Given the description of an element on the screen output the (x, y) to click on. 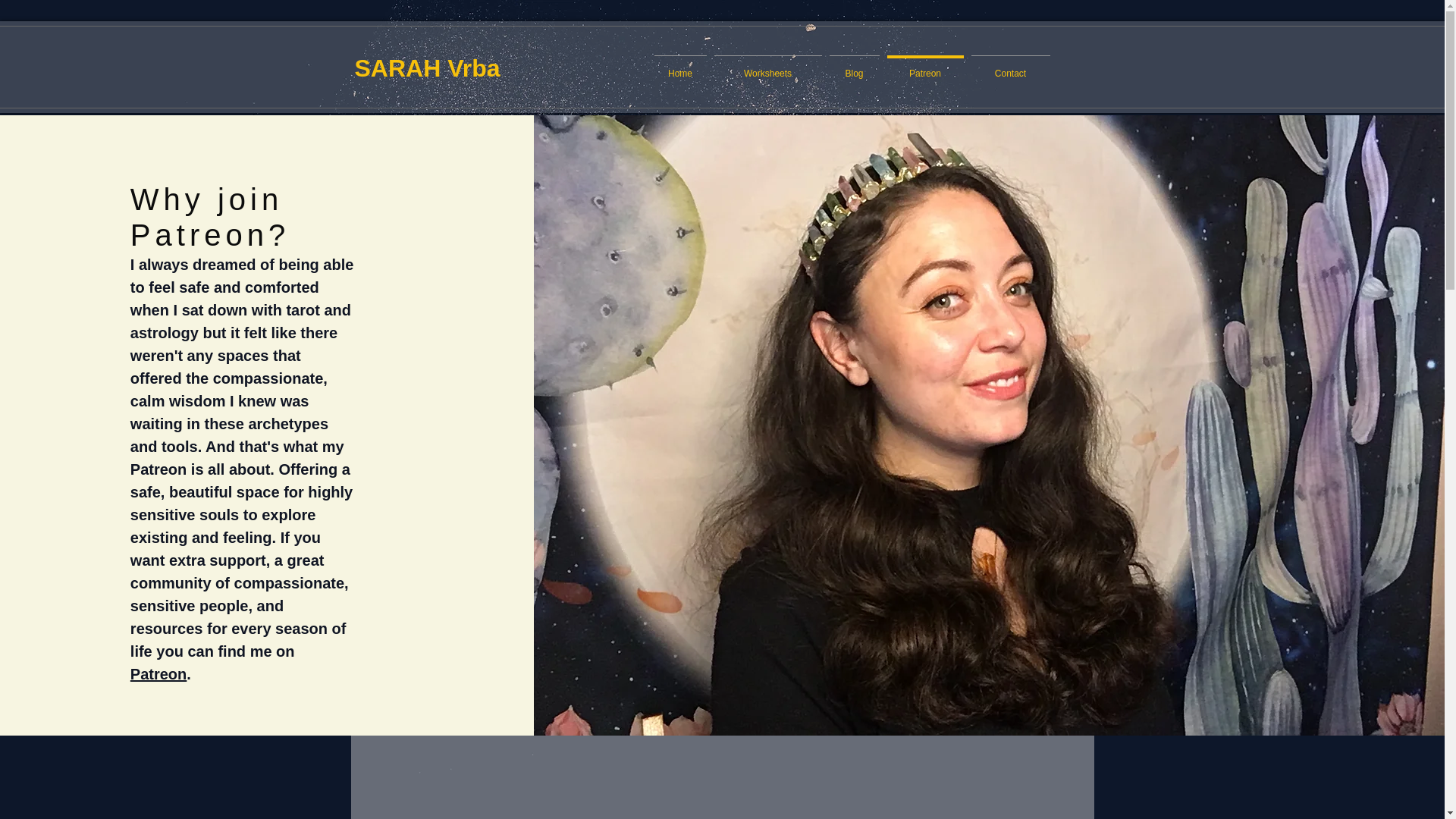
Home (680, 66)
Patreon (158, 673)
Worksheets (767, 66)
SARAH  (401, 67)
Contact (1011, 66)
Patreon (924, 66)
Blog (853, 66)
